Given the description of an element on the screen output the (x, y) to click on. 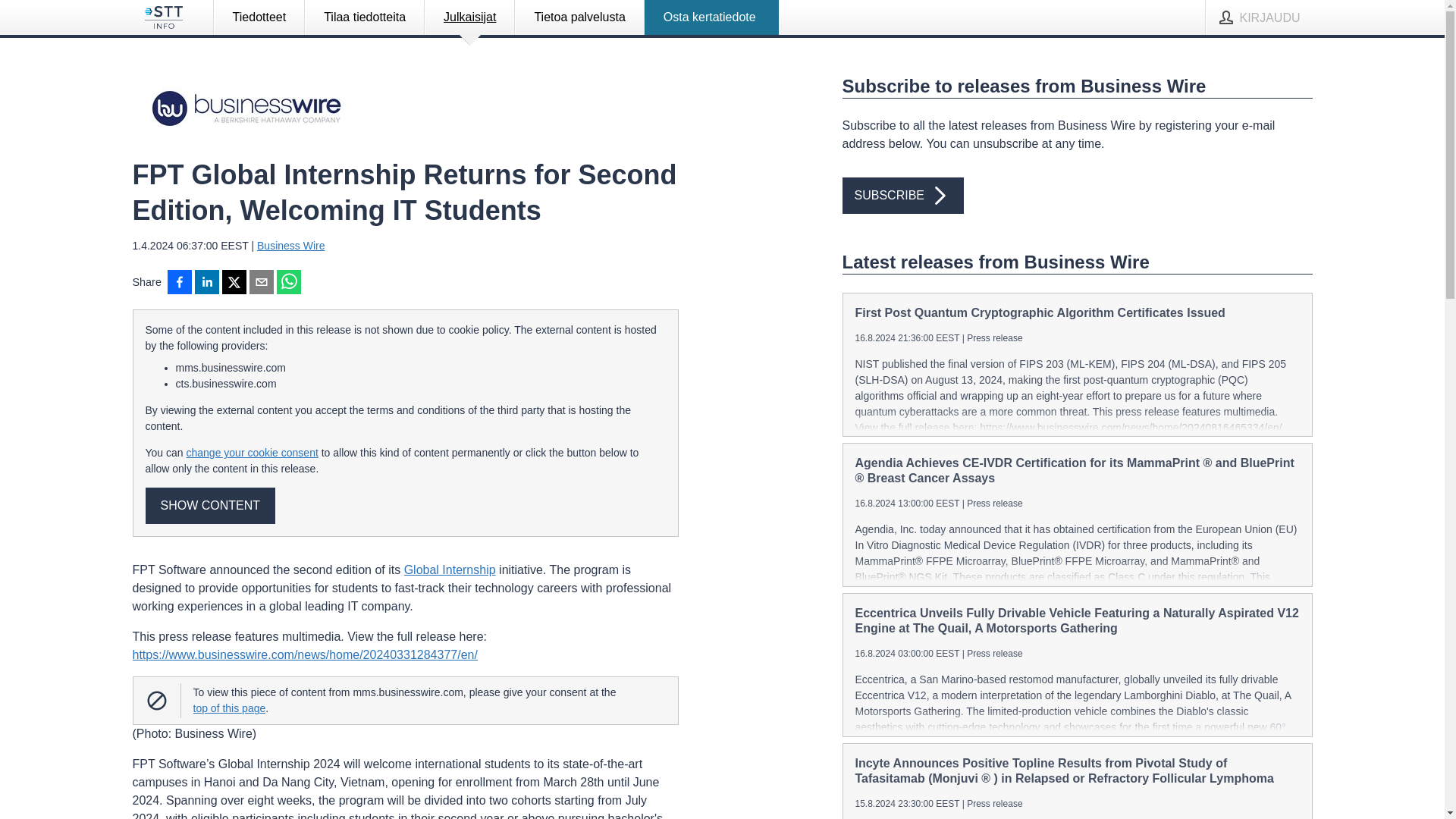
change your cookie consent (251, 452)
Global Internship (450, 570)
Tietoa palvelusta (579, 17)
Tiedotteet (259, 17)
Business Wire (290, 245)
Osta kertatiedote (711, 17)
SUBSCRIBE (901, 195)
Tilaa tiedotteita (364, 17)
Julkaisijat (469, 17)
SHOW CONTENT (210, 505)
